Given the description of an element on the screen output the (x, y) to click on. 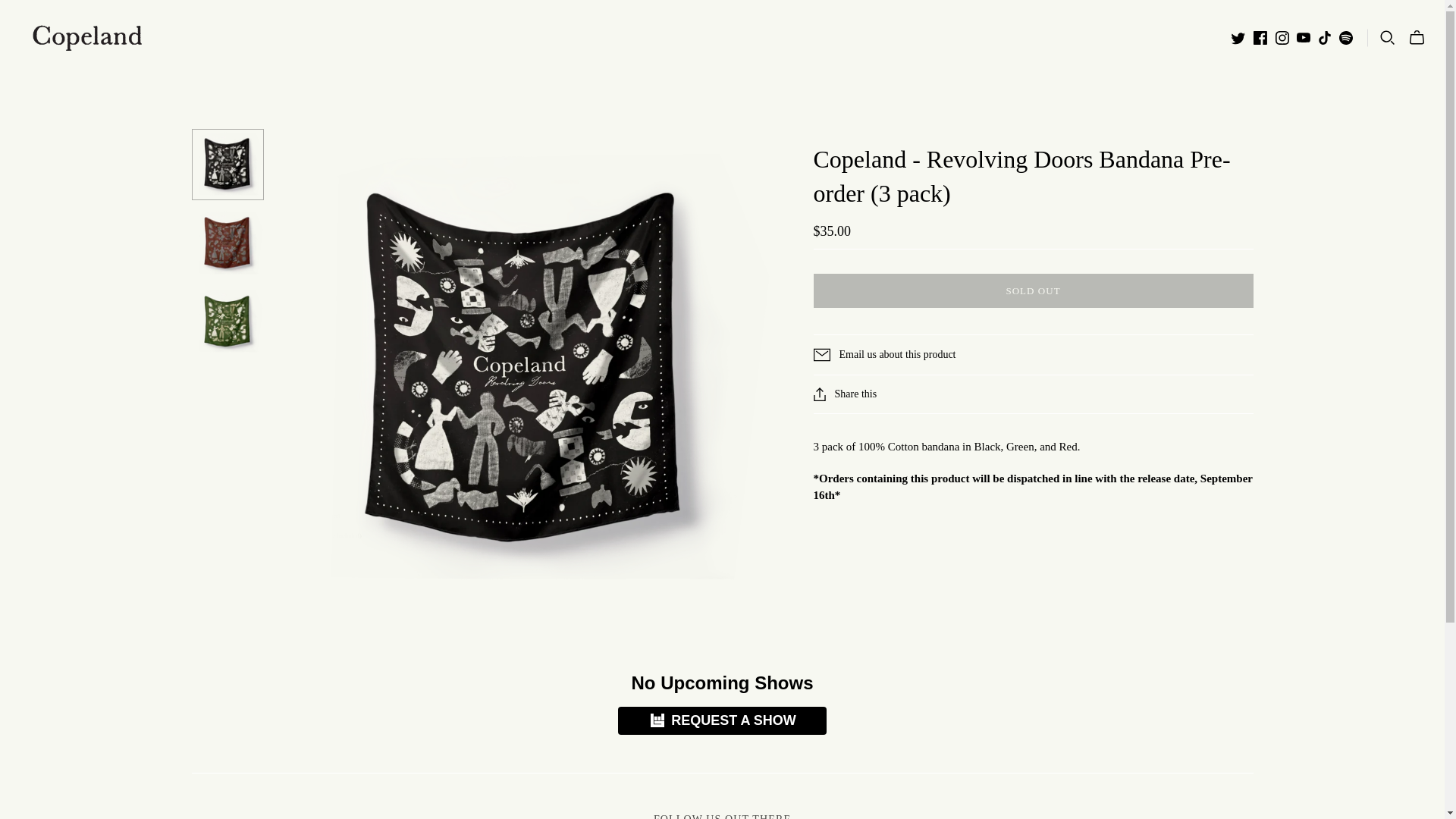
REQUEST A SHOW Element type: text (722, 720)
Email us about this product Element type: text (1032, 355)
Share this Element type: text (844, 394)
SOLD OUT Element type: text (1032, 290)
